Given the description of an element on the screen output the (x, y) to click on. 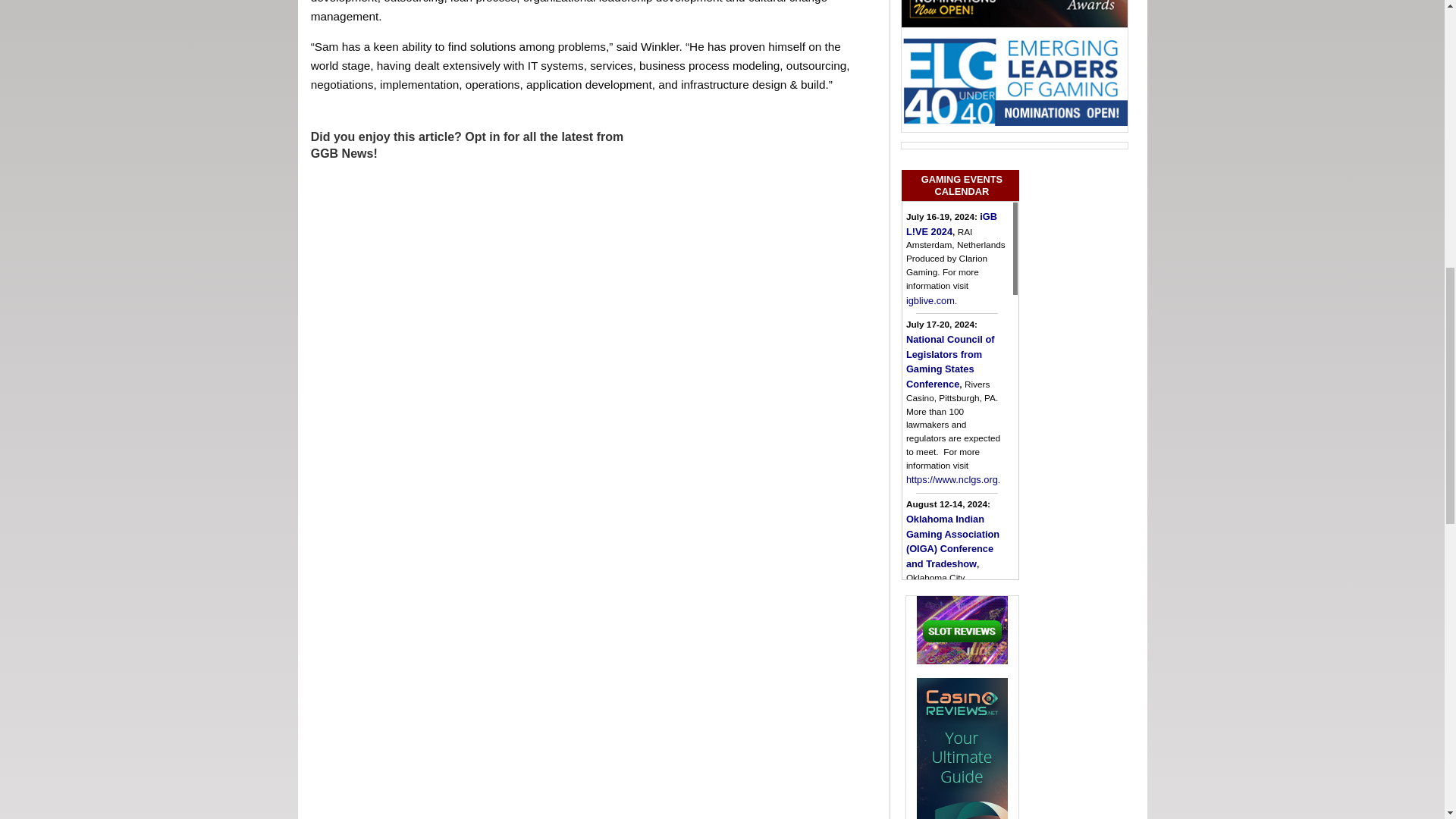
Emerging Leaders of Gaming Nominations (1013, 81)
National Council of Legislators from Gaming States (951, 479)
National Council of Legislators from Gaming States (949, 361)
iGB L!VE 2024 (951, 223)
iGB L!VE 2024 (951, 223)
iGB L!VE 2024 (930, 299)
GAMING EVENTS CALENDAR (960, 184)
Form (470, 308)
igblive.com (930, 299)
The Racing and Gaming Conference at Saratoga (951, 700)
The Racing and Gaming Conference at Saratoga (972, 783)
